Given the description of an element on the screen output the (x, y) to click on. 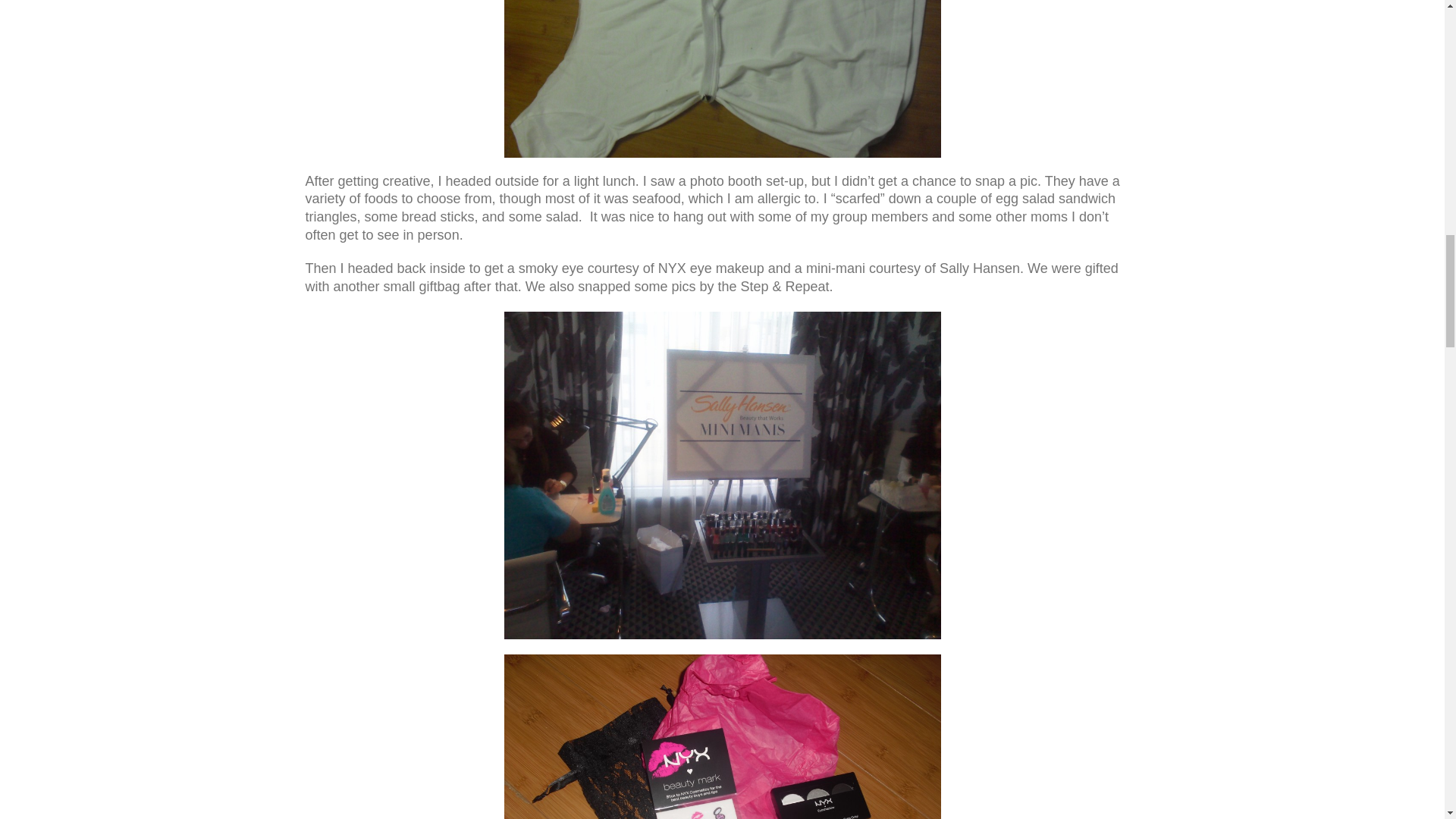
NYX eye makeup (721, 736)
searsStyle my creation (721, 79)
